Given the description of an element on the screen output the (x, y) to click on. 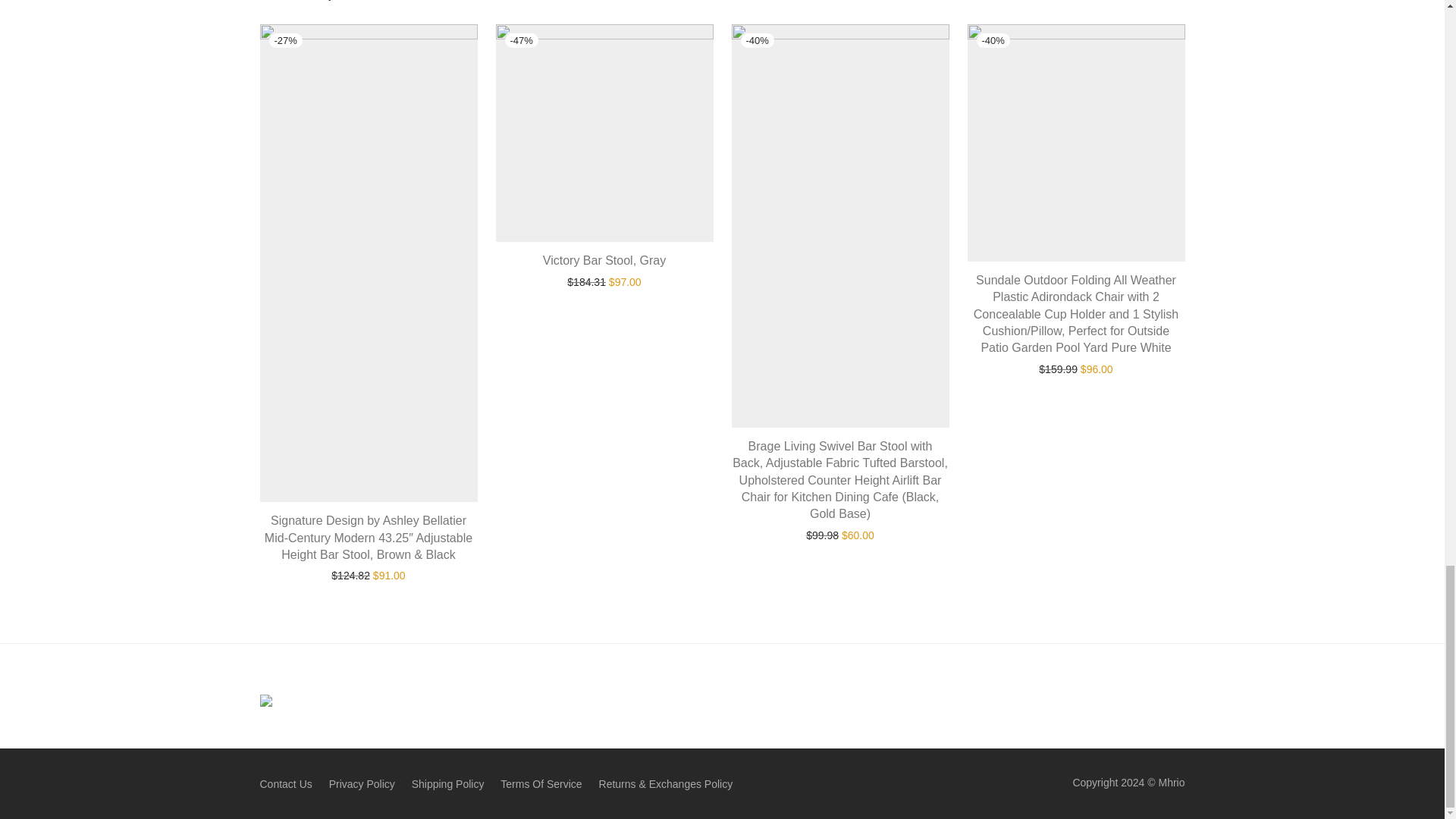
Victory Bar Stool, Gray (604, 259)
